Given the description of an element on the screen output the (x, y) to click on. 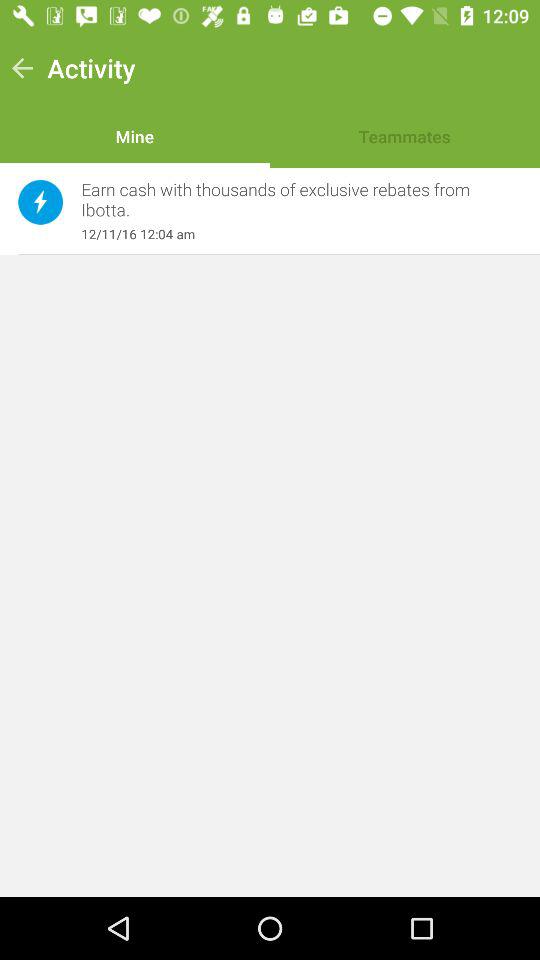
select earn cash with (291, 200)
